Given the description of an element on the screen output the (x, y) to click on. 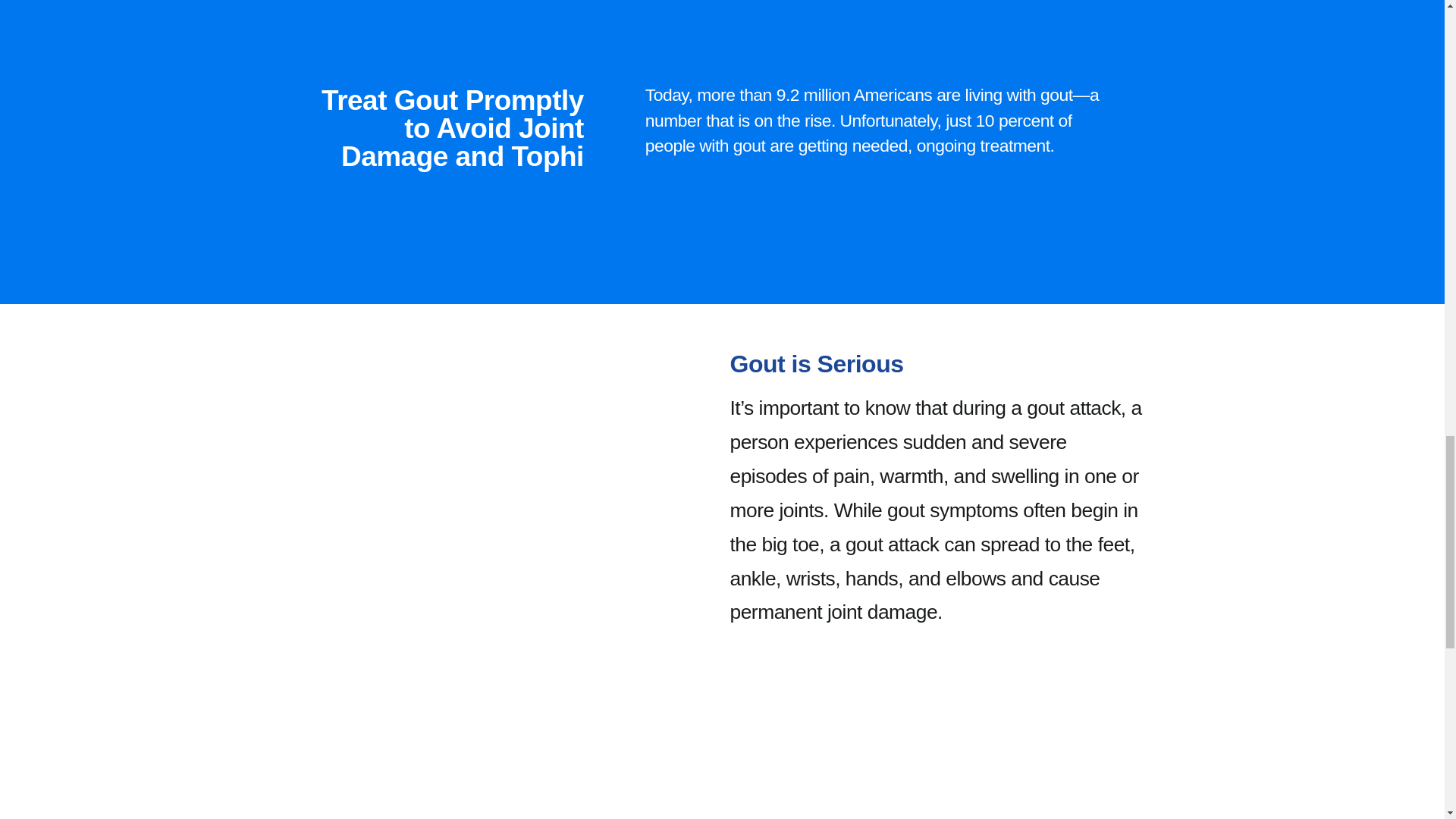
Home Page 4 (505, 500)
